Given the description of an element on the screen output the (x, y) to click on. 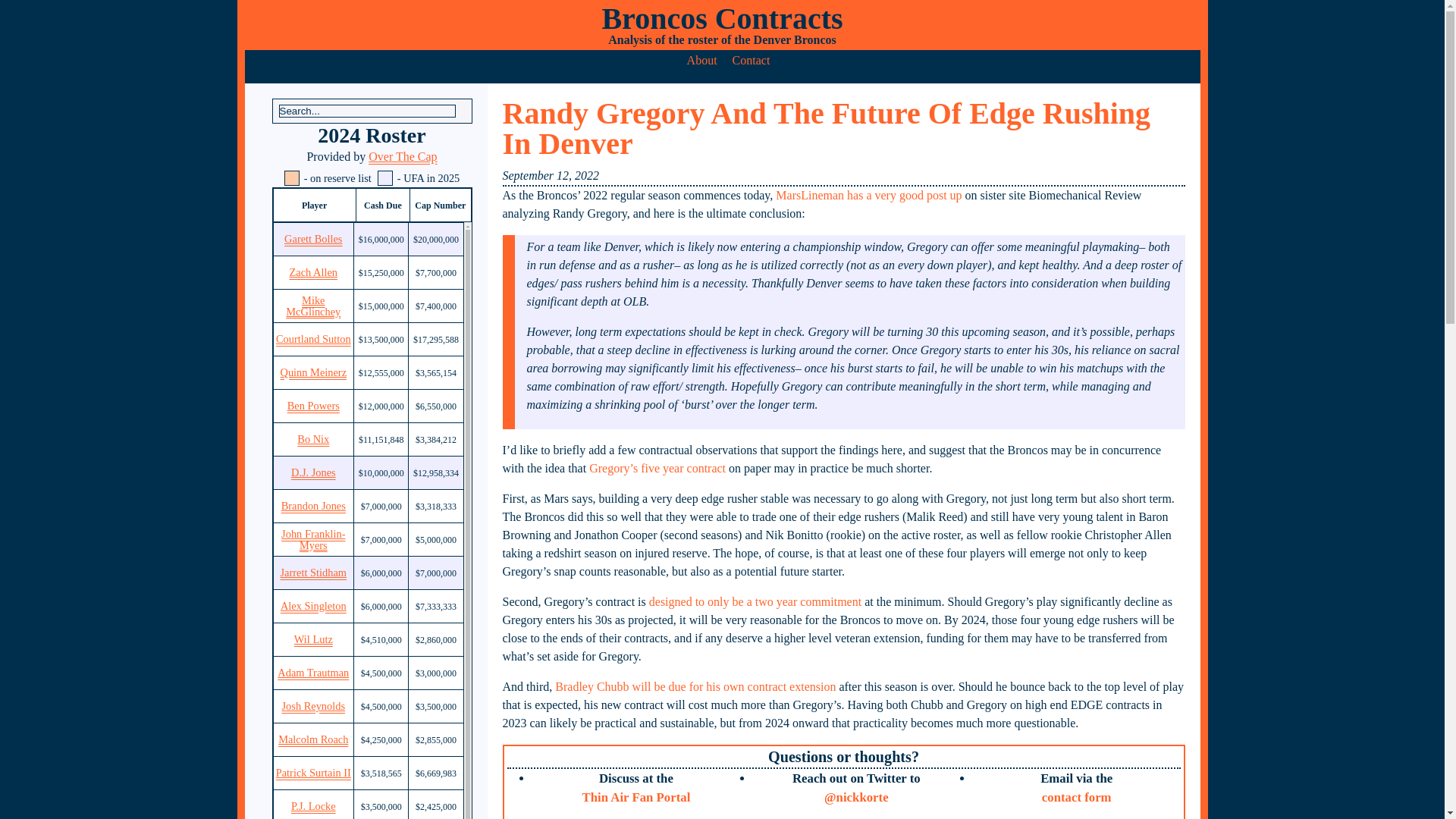
Over The Cap (402, 155)
MarsLineman has a very good post up (868, 195)
Patrick Surtain II (313, 772)
About (702, 60)
Courtland Sutton (313, 338)
Thin Air Fan Portal (635, 797)
Adam Trautman (313, 672)
Randy Gregory And The Future Of Edge Rushing In Denver (826, 128)
designed to only be a two year commitment (755, 601)
Bo Nix (313, 439)
